Given the description of an element on the screen output the (x, y) to click on. 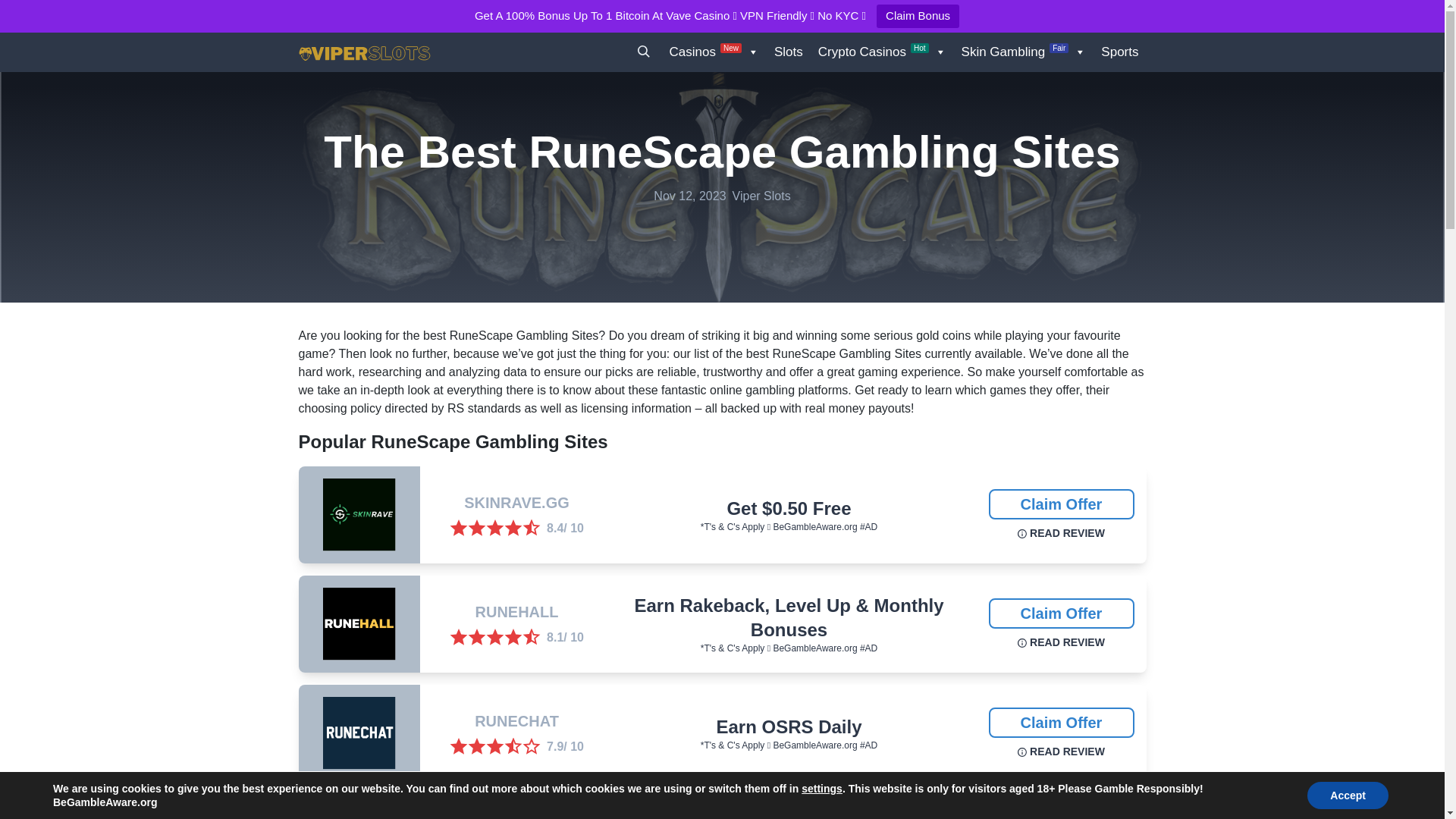
full star (494, 637)
Nov 12, 2023 (689, 196)
half empty star (531, 637)
half empty star (512, 746)
Slots (788, 51)
Crypto CasinosHot (881, 51)
CasinosNew (714, 51)
full star (476, 746)
full star (476, 637)
Viper Slots (761, 196)
full star (494, 746)
Search (643, 51)
Viper Slots (345, 52)
Skin GamblingFair (1023, 51)
full star (512, 528)
